Given the description of an element on the screen output the (x, y) to click on. 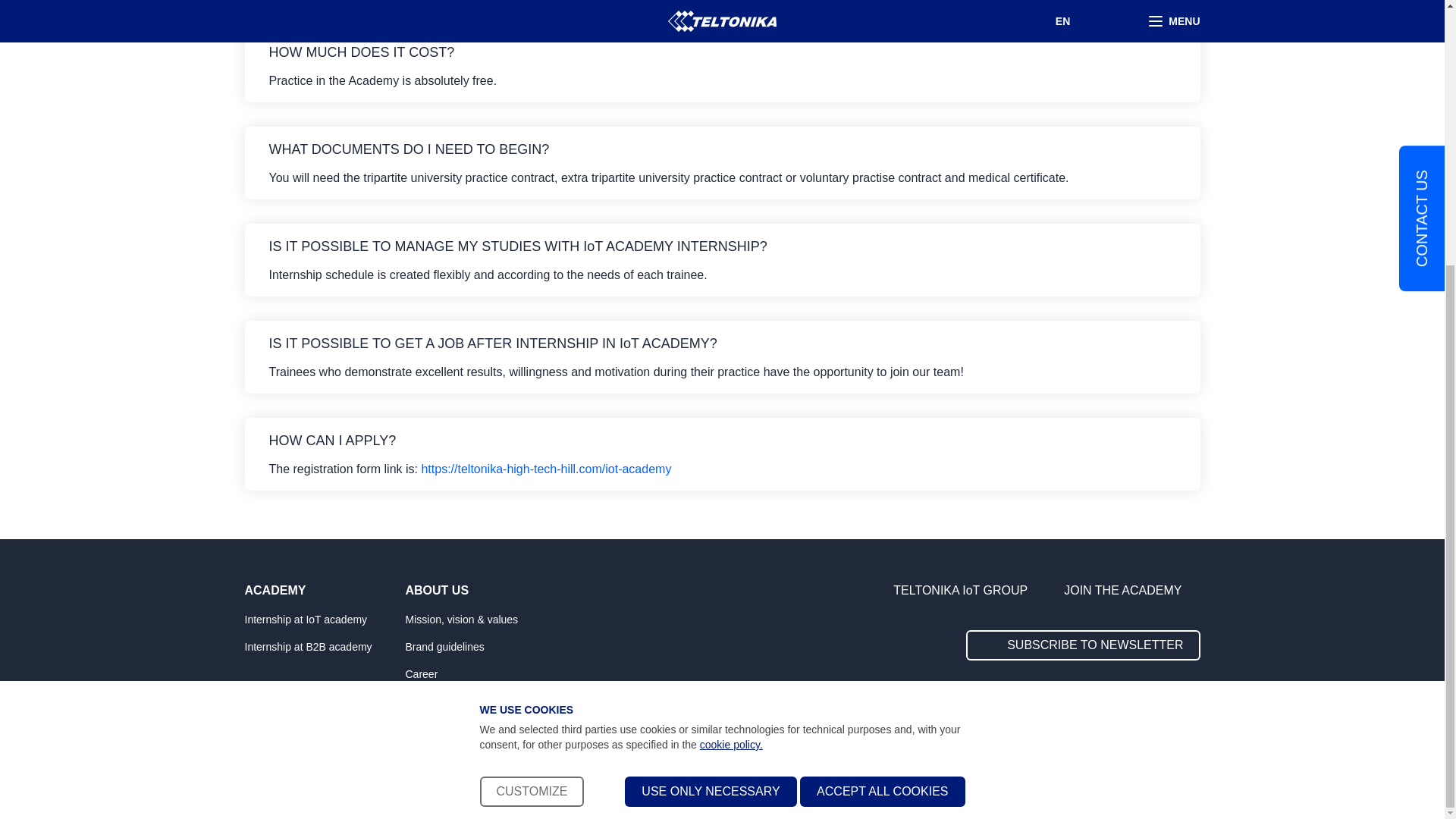
Career (480, 673)
ALL POLICIES (1053, 770)
Internship at B2B academy (320, 646)
Brand guidelines (480, 646)
Contacts (480, 700)
COOKIES (976, 770)
TELTONIKA IoT GROUP (969, 590)
JOIN THE ACADEMY (1131, 590)
Internship at IoT academy (320, 619)
PRIVACY (908, 770)
SUBSCRIBE TO NEWSLETTER (1082, 644)
